Given the description of an element on the screen output the (x, y) to click on. 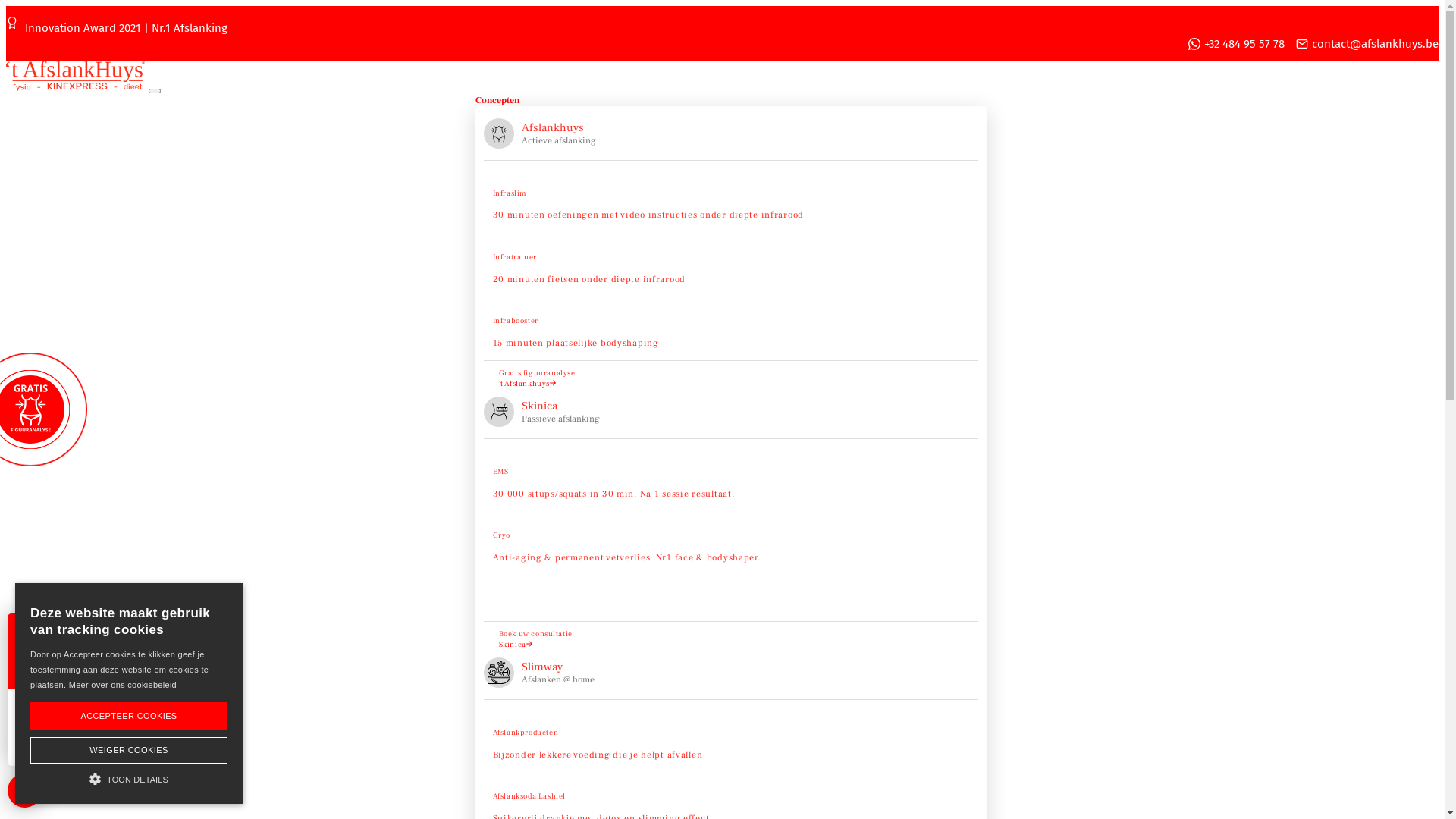
+32 484 95 57 78 Element type: text (1236, 43)
contact@afslankhuys.be Element type: text (1366, 43)
Infrabooster
15 minuten plaatselijke bodyshaping Element type: text (730, 326)
Meer over ons cookiebeleid Element type: text (122, 684)
Infratrainer
20 minuten fietsen onder diepte infrarood Element type: text (730, 261)
Free Widget by ToChat.be Element type: text (140, 756)
Skinica Element type: text (515, 644)
Concepten Element type: text (496, 100)
EMS
30 000 situps/squats in 30 min. Na 1 sessie resultaat. Element type: text (730, 476)
't Afslankhuys Element type: text (526, 383)
